Given the description of an element on the screen output the (x, y) to click on. 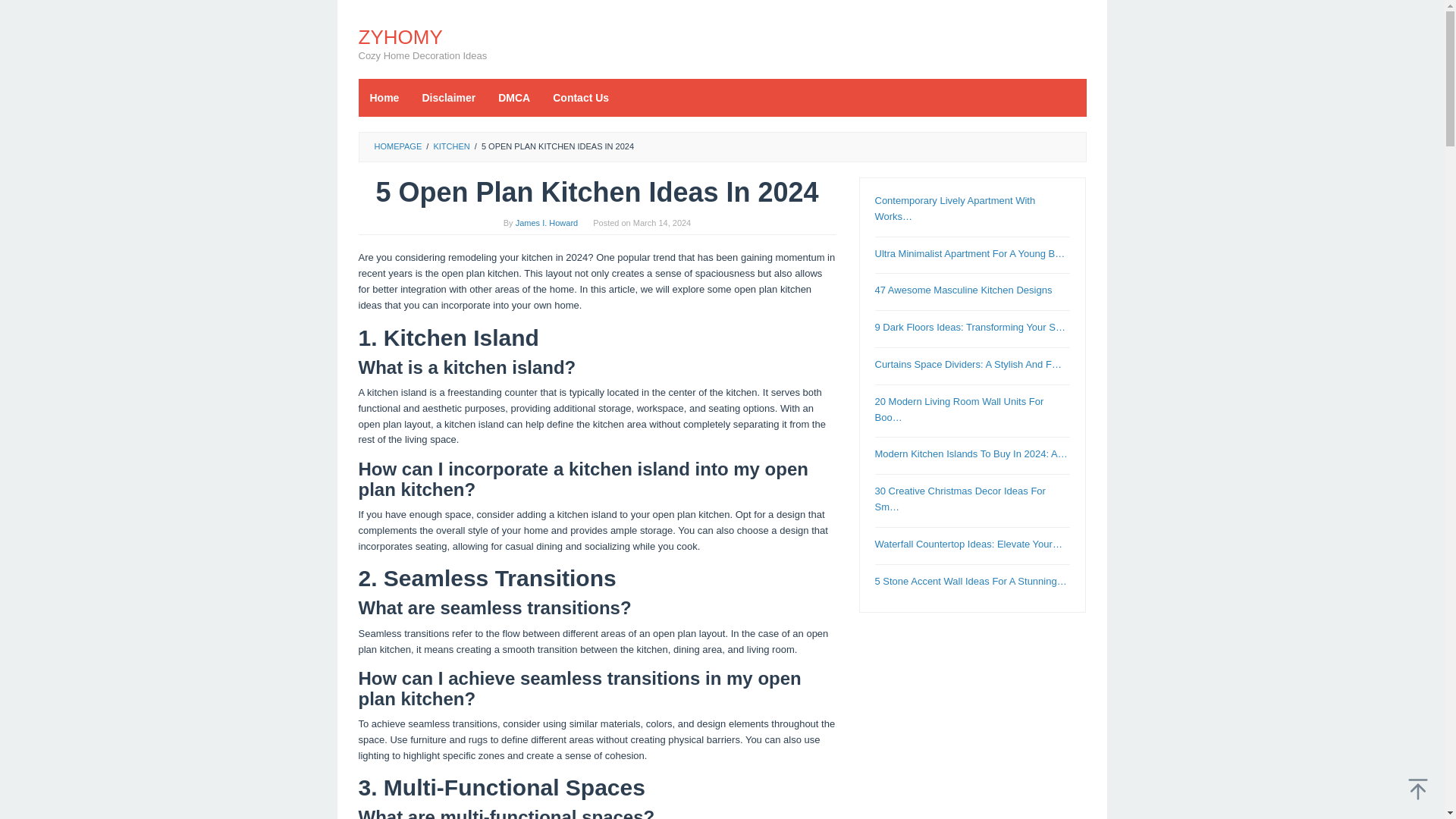
Contact Us (580, 97)
KITCHEN (450, 145)
James I. Howard (546, 222)
ZYHOMY (400, 36)
HOMEPAGE (398, 145)
Permalink to: James I. Howard (546, 222)
Disclaimer (448, 97)
DMCA (513, 97)
47 Awesome Masculine Kitchen Designs (963, 289)
Home (384, 97)
ZYHOMY (400, 36)
